Given the description of an element on the screen output the (x, y) to click on. 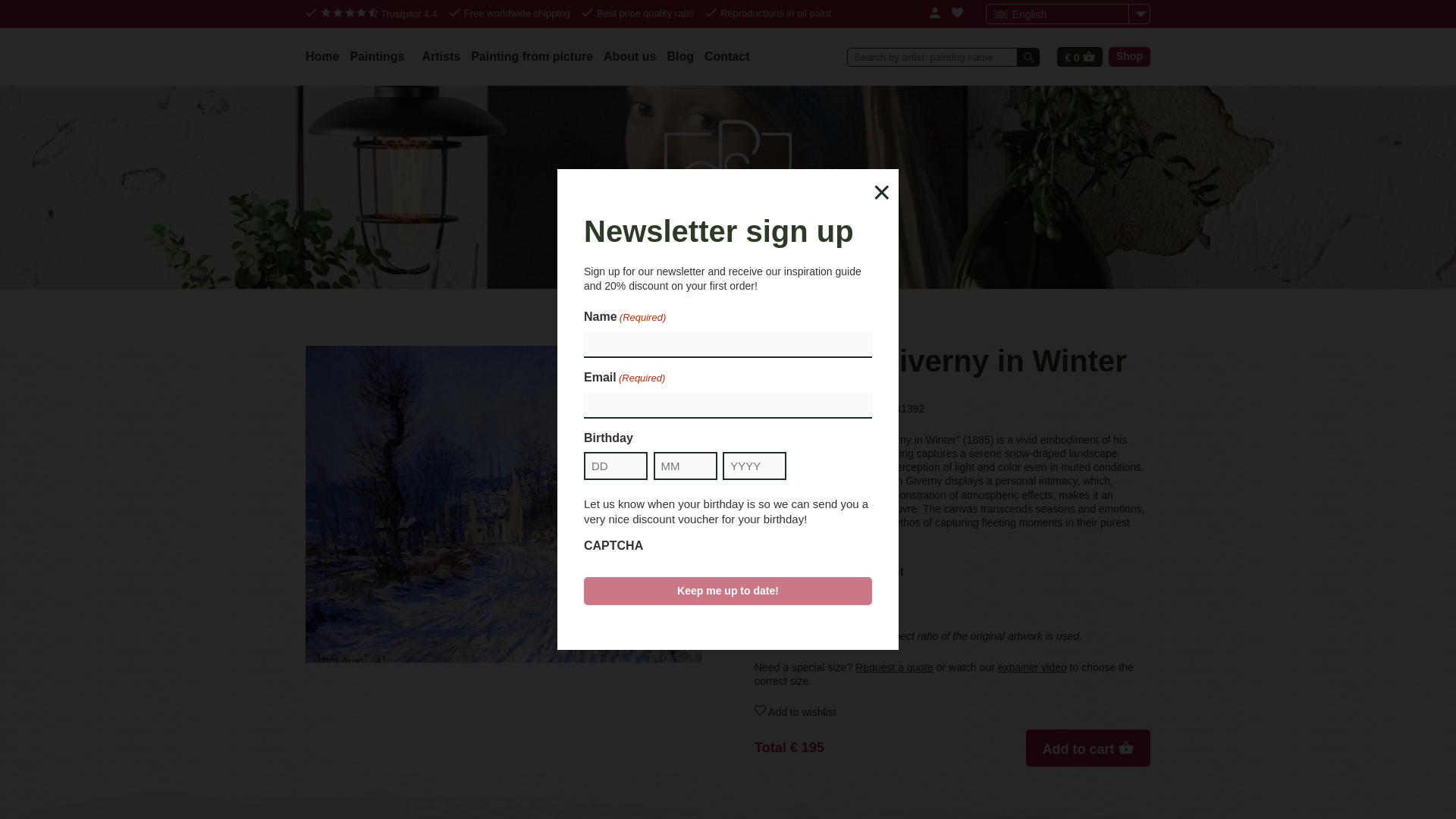
Add to wishlist (952, 712)
Add to cart (1088, 748)
Contact (726, 56)
English (1067, 14)
Trustpilot 4.4 (379, 14)
Request a quote (894, 666)
Artists (441, 56)
Claude Oscar Monet (818, 408)
Shop (1129, 56)
Painting from picture (531, 56)
expainer video (1032, 666)
Keep me up to date! (727, 590)
Paintings (379, 56)
Add to wishlist (952, 712)
50 (779, 598)
